Given the description of an element on the screen output the (x, y) to click on. 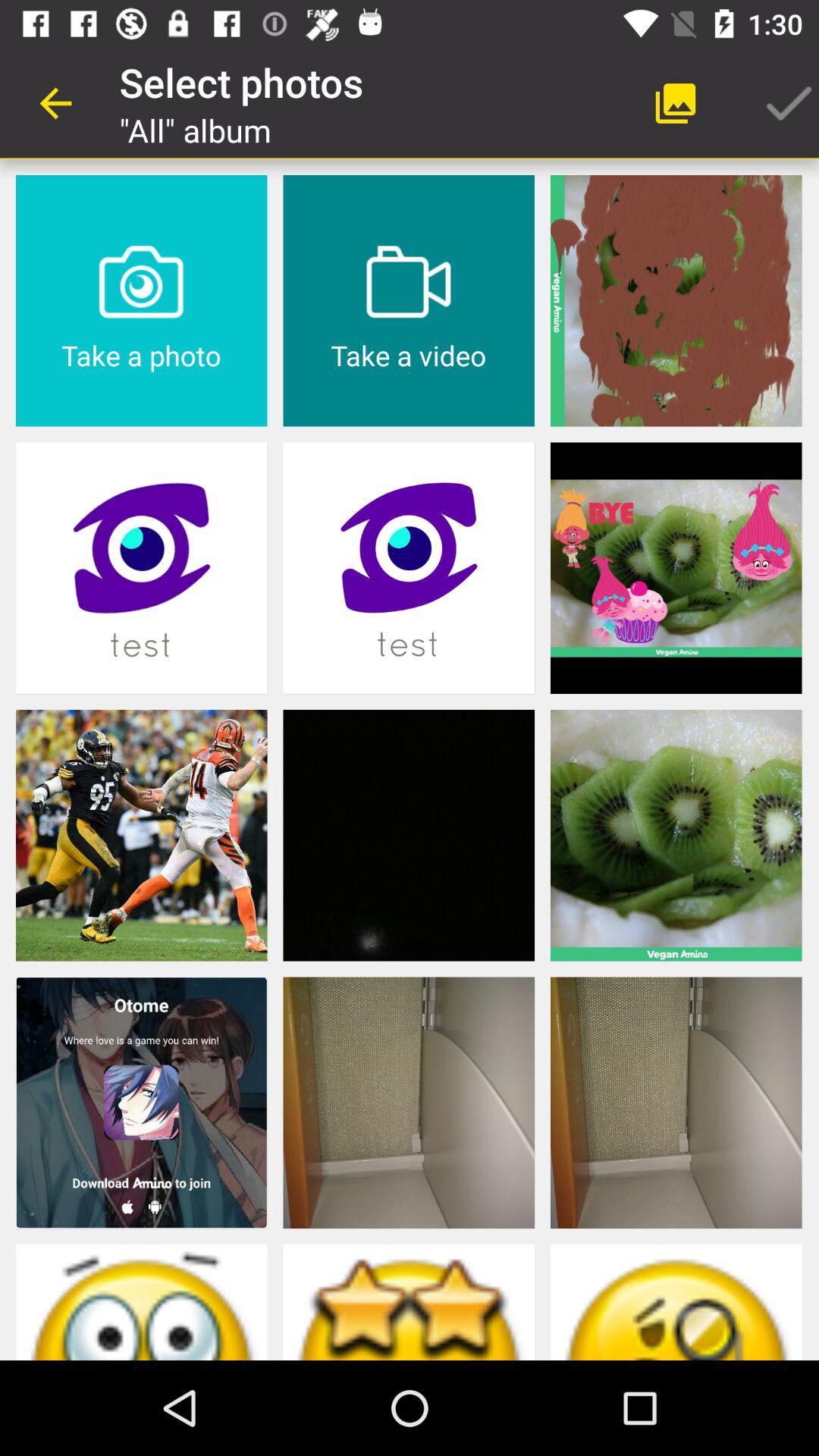
press app to the left of select photos (55, 103)
